Given the description of an element on the screen output the (x, y) to click on. 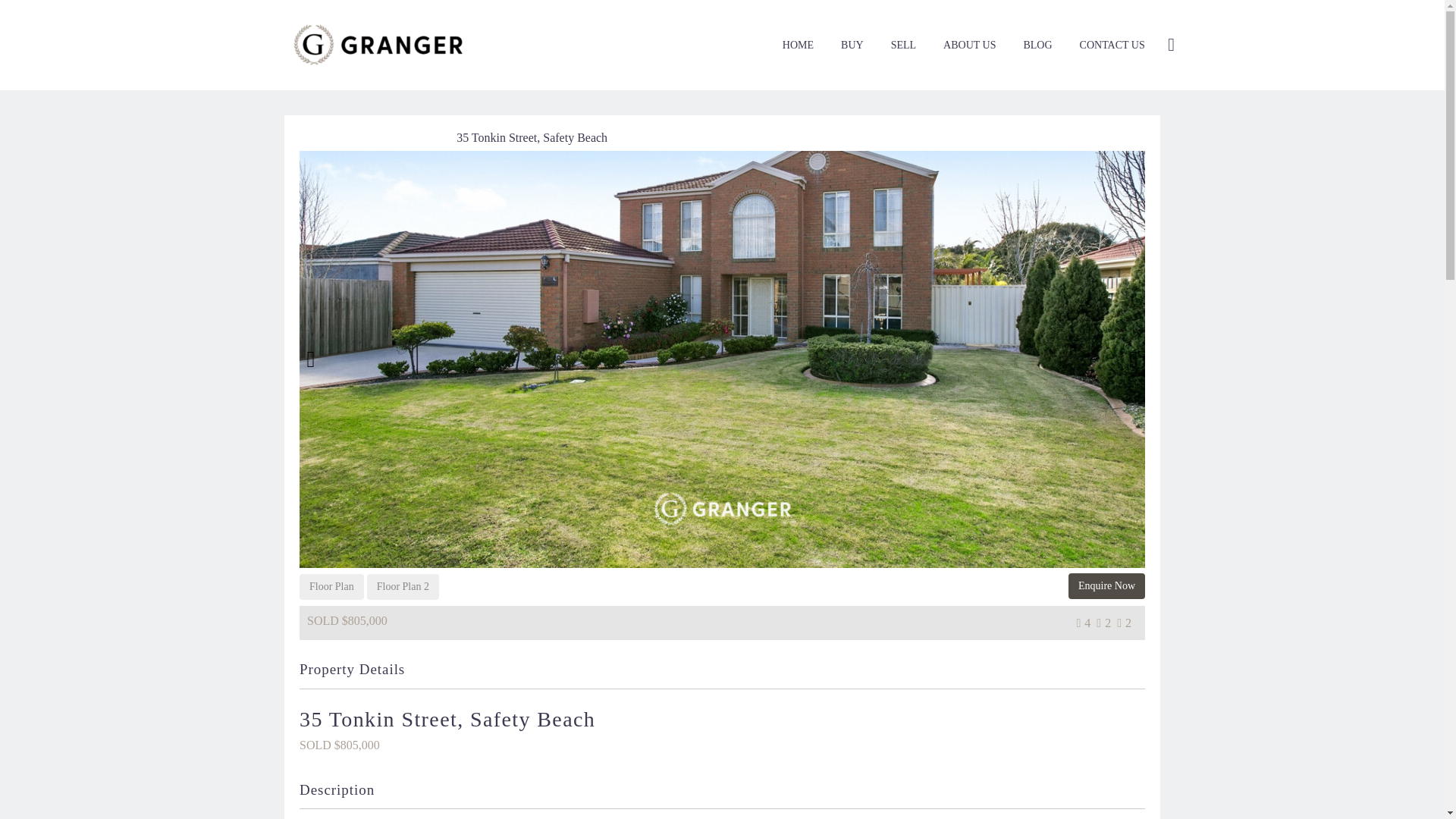
SELL (903, 45)
HOME (798, 45)
BLOG (1036, 45)
BUY (852, 45)
ABOUT US (969, 45)
s (1323, 125)
CONTACT US (1112, 45)
Previous (310, 359)
